Given the description of an element on the screen output the (x, y) to click on. 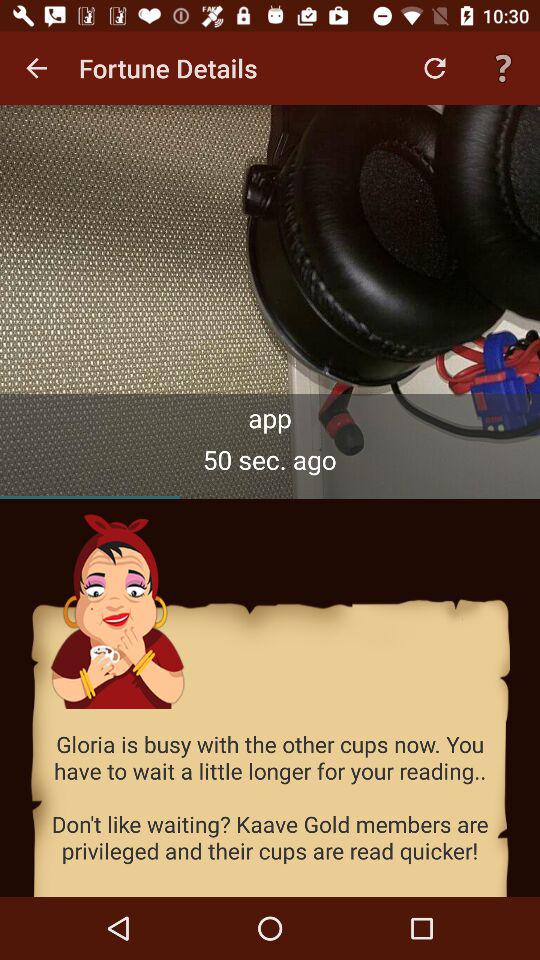
turn off app next to the fortune details icon (36, 68)
